Given the description of an element on the screen output the (x, y) to click on. 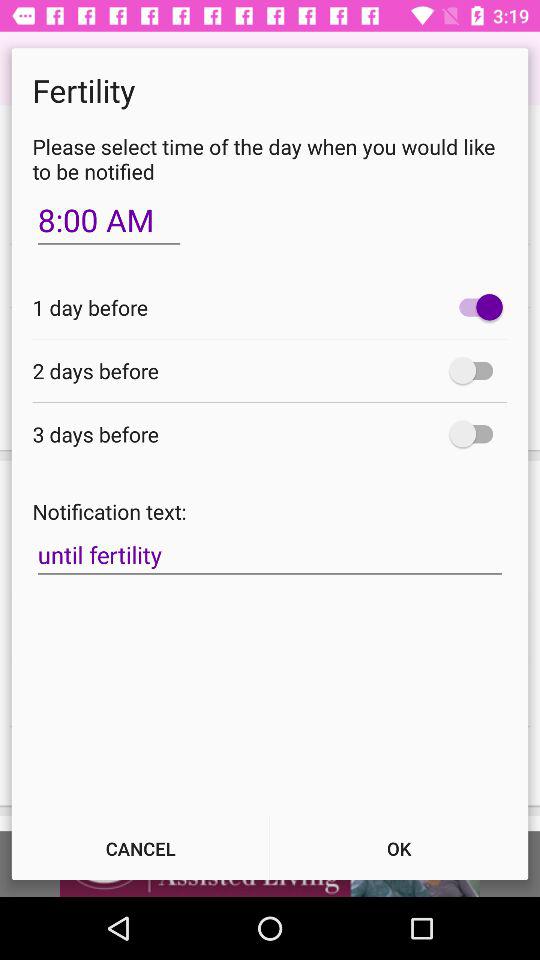
turn on icon below the notification text: icon (269, 555)
